Given the description of an element on the screen output the (x, y) to click on. 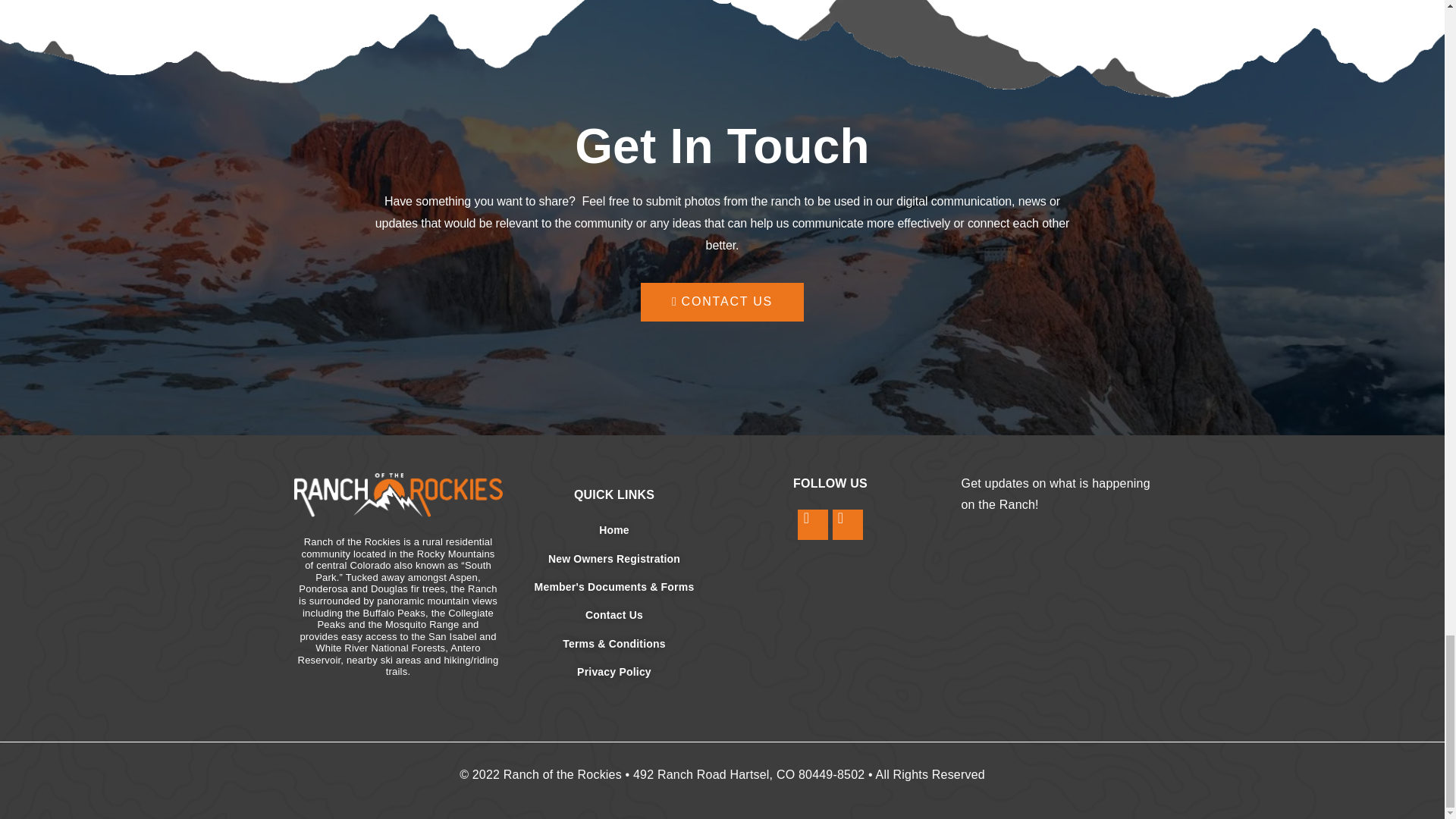
CONTACT US (721, 301)
Home (613, 529)
New Owners Registration (613, 558)
Contact Us (613, 614)
Privacy Policy (613, 671)
